Given the description of an element on the screen output the (x, y) to click on. 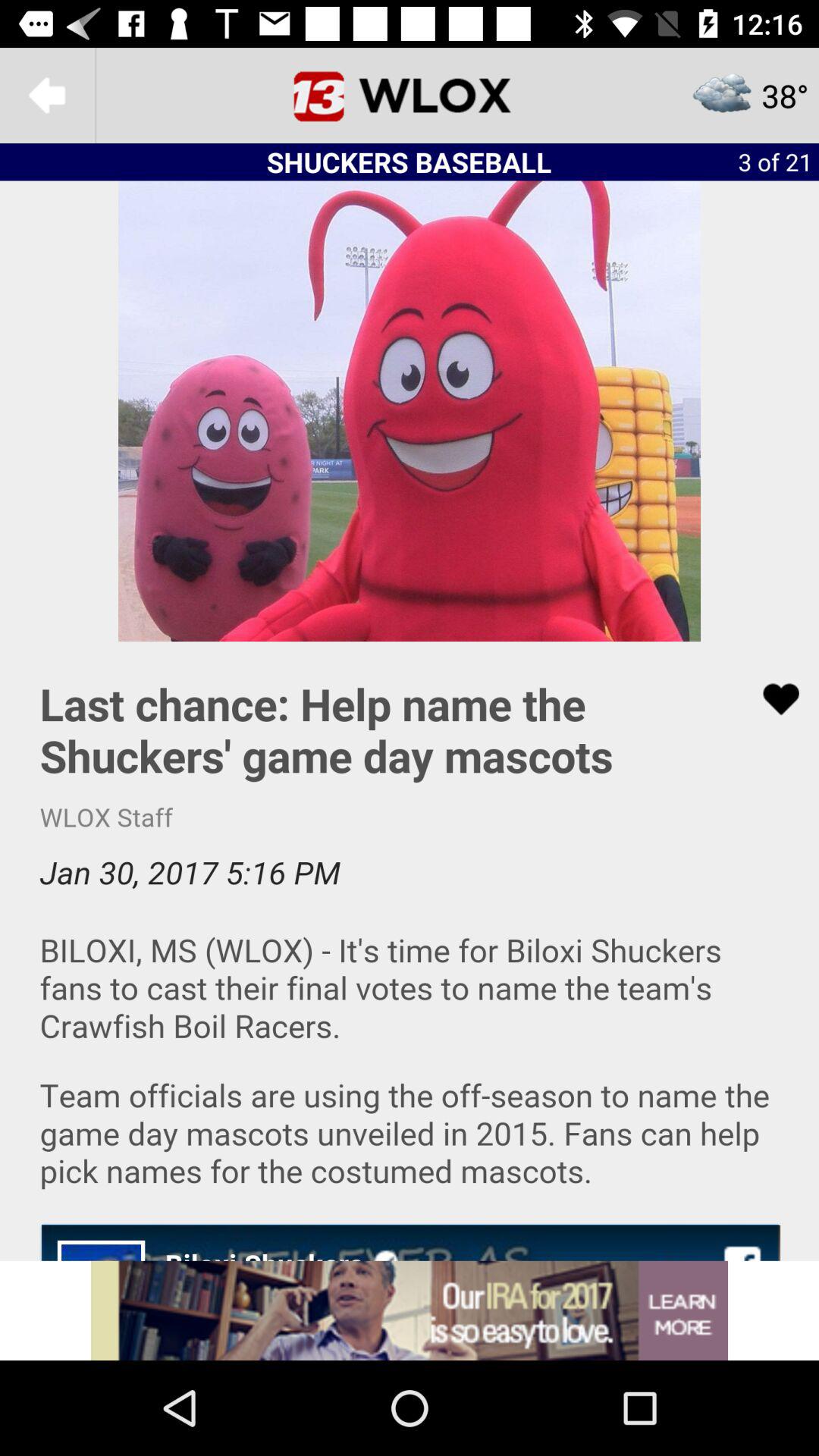
read article (409, 950)
